Given the description of an element on the screen output the (x, y) to click on. 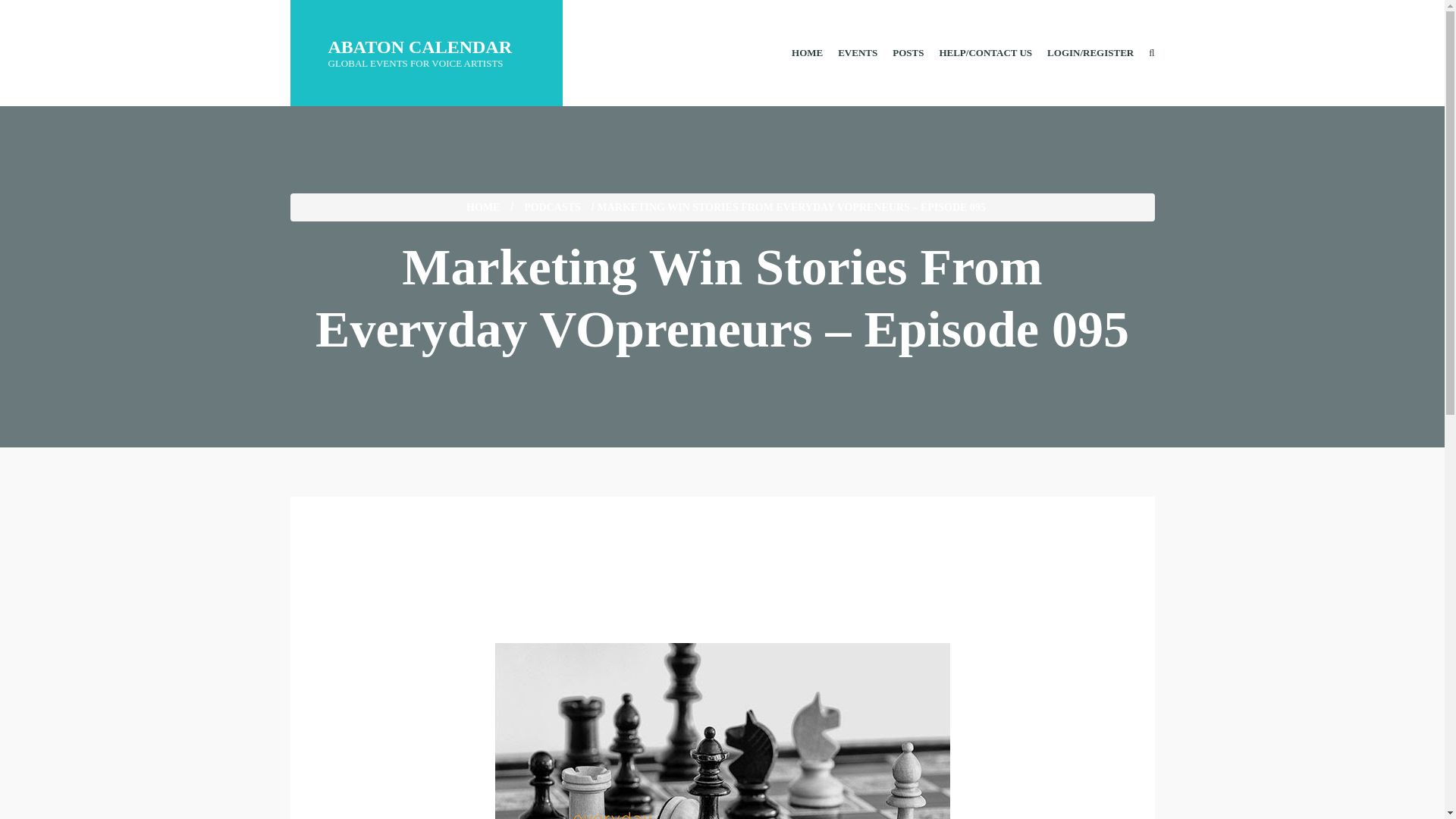
PODCASTS (552, 207)
Podcasts (552, 207)
HOME (482, 207)
HOME (806, 52)
POSTS (908, 52)
EVENTS (425, 35)
Abaton Calendar (857, 52)
